Given the description of an element on the screen output the (x, y) to click on. 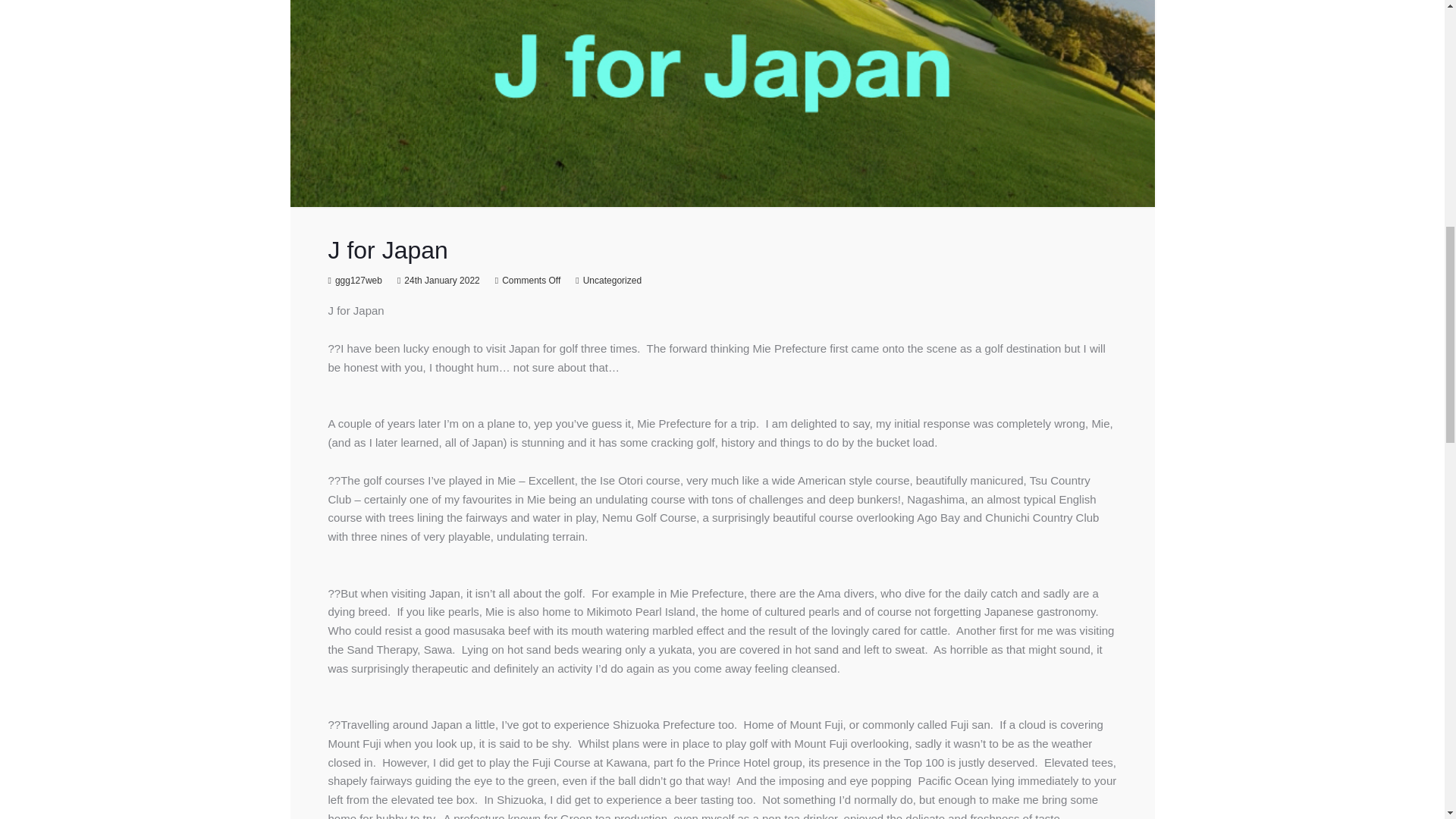
24th January 2022 (441, 280)
Posts by ggg127web (357, 280)
ggg127web (357, 280)
Uncategorized (612, 280)
